Given the description of an element on the screen output the (x, y) to click on. 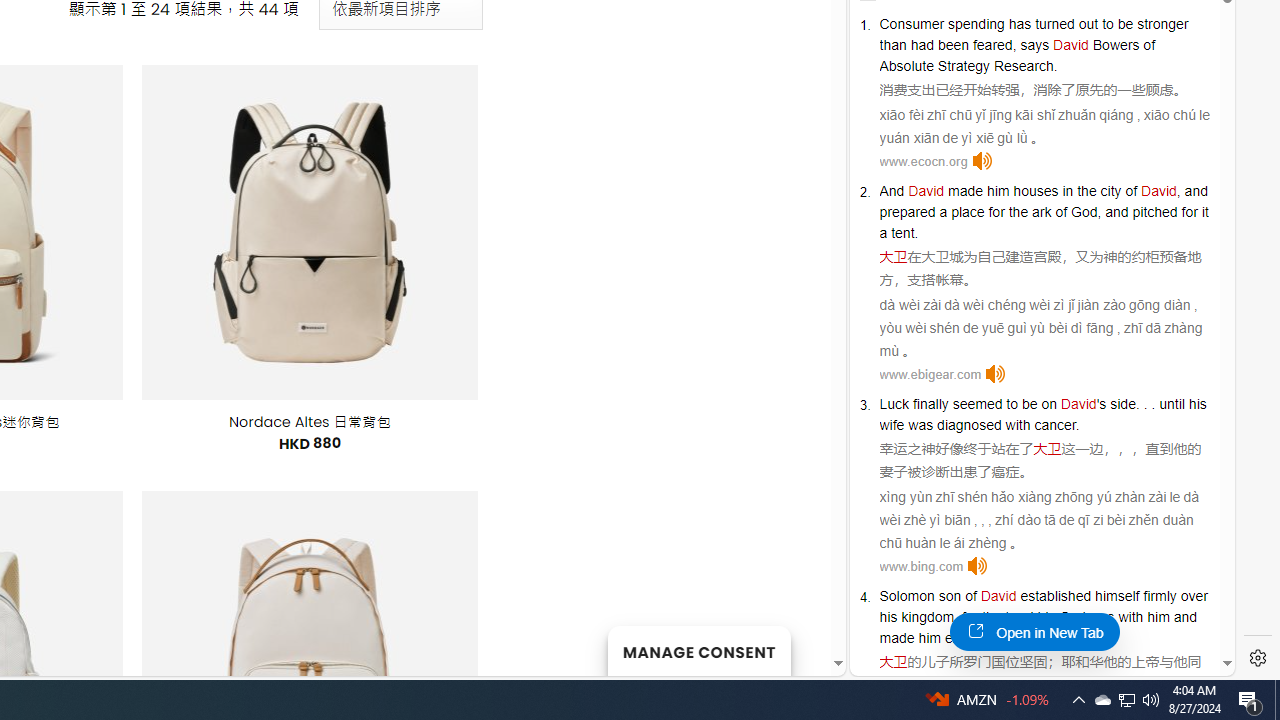
stronger (1162, 23)
son (950, 596)
Lord (1019, 616)
tent (902, 232)
had (922, 44)
the (991, 616)
in (1067, 190)
prepared (907, 211)
